Given the description of an element on the screen output the (x, y) to click on. 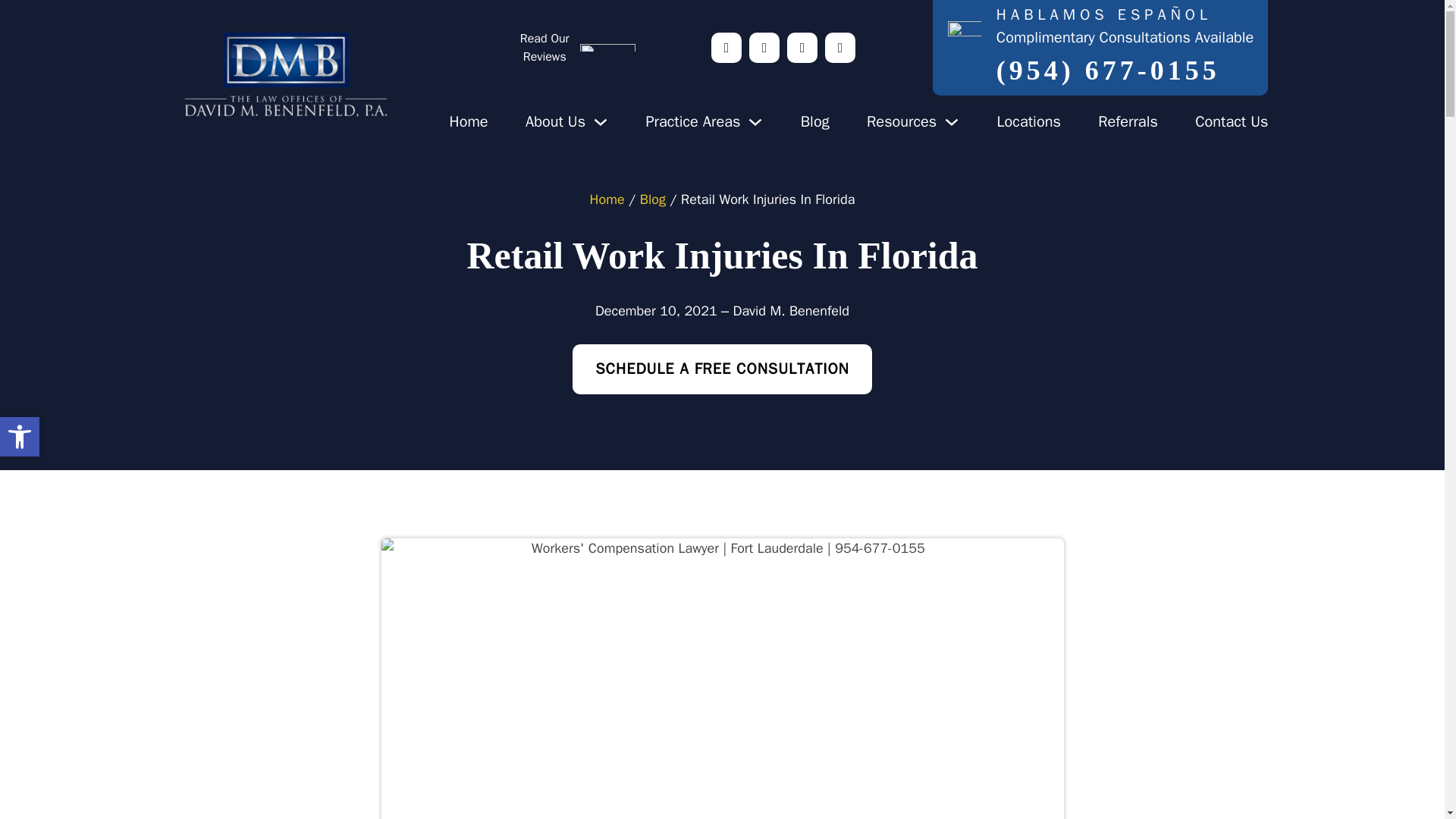
Practice Areas (692, 121)
Accessibility Tools (19, 436)
About Us (555, 121)
Practice Areas (692, 121)
Home Page (467, 121)
Resources (901, 121)
Read Our Reviews (576, 47)
Contact Us (1231, 121)
Injury Blog (19, 436)
